Given the description of an element on the screen output the (x, y) to click on. 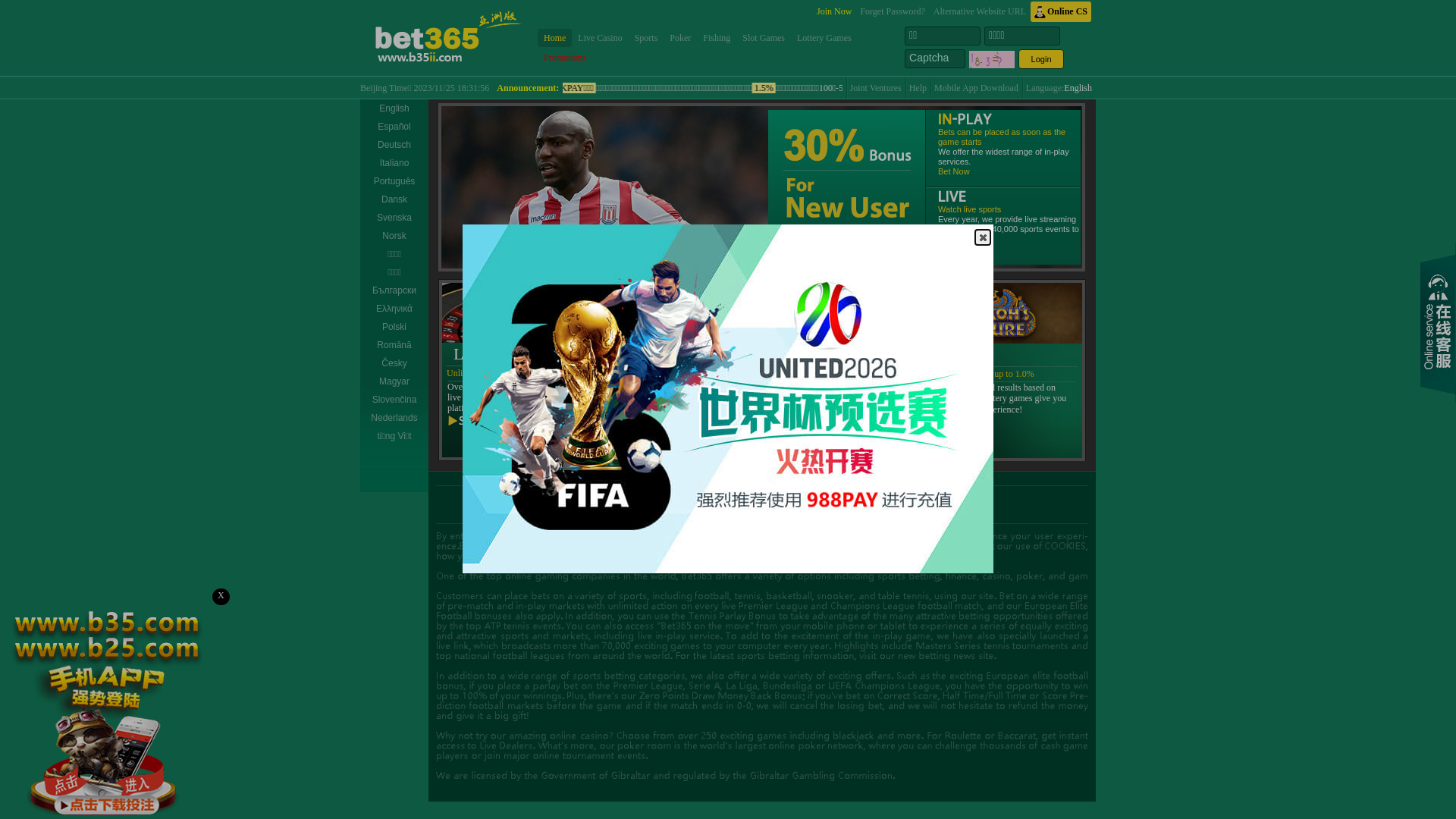
English Element type: text (394, 108)
Poker Element type: text (679, 37)
Fishing Element type: text (716, 37)
Sports Element type: text (646, 37)
Live Casino Element type: text (599, 37)
Help Element type: text (917, 87)
Lottery Games Element type: text (823, 37)
Deutsch Element type: text (394, 144)
Agent Alliance Element type: text (907, 497)
Alternative Website URL Element type: text (979, 11)
Instructions Element type: text (659, 497)
English Element type: text (1077, 87)
Magyar Element type: text (394, 381)
Mobile App Download Element type: text (976, 87)
Join Now Element type: text (833, 11)
Forget Password? Element type: text (891, 11)
Norsk Element type: text (394, 235)
Dansk Element type: text (394, 199)
Home Element type: text (554, 37)
Slot Games Element type: text (763, 37)
Agent Partnership Element type: text (763, 497)
Close Element type: hover (982, 236)
Promotions Element type: text (564, 57)
Joint Ventures Element type: text (875, 87)
Svenska Element type: text (394, 217)
About Us Element type: text (606, 497)
Online CS Element type: text (1060, 11)
Agent Program Element type: text (838, 497)
Nederlands Element type: text (394, 417)
FAQs Element type: text (705, 497)
Login Element type: text (1040, 59)
Polski Element type: text (394, 326)
Italiano Element type: text (394, 162)
